Given the description of an element on the screen output the (x, y) to click on. 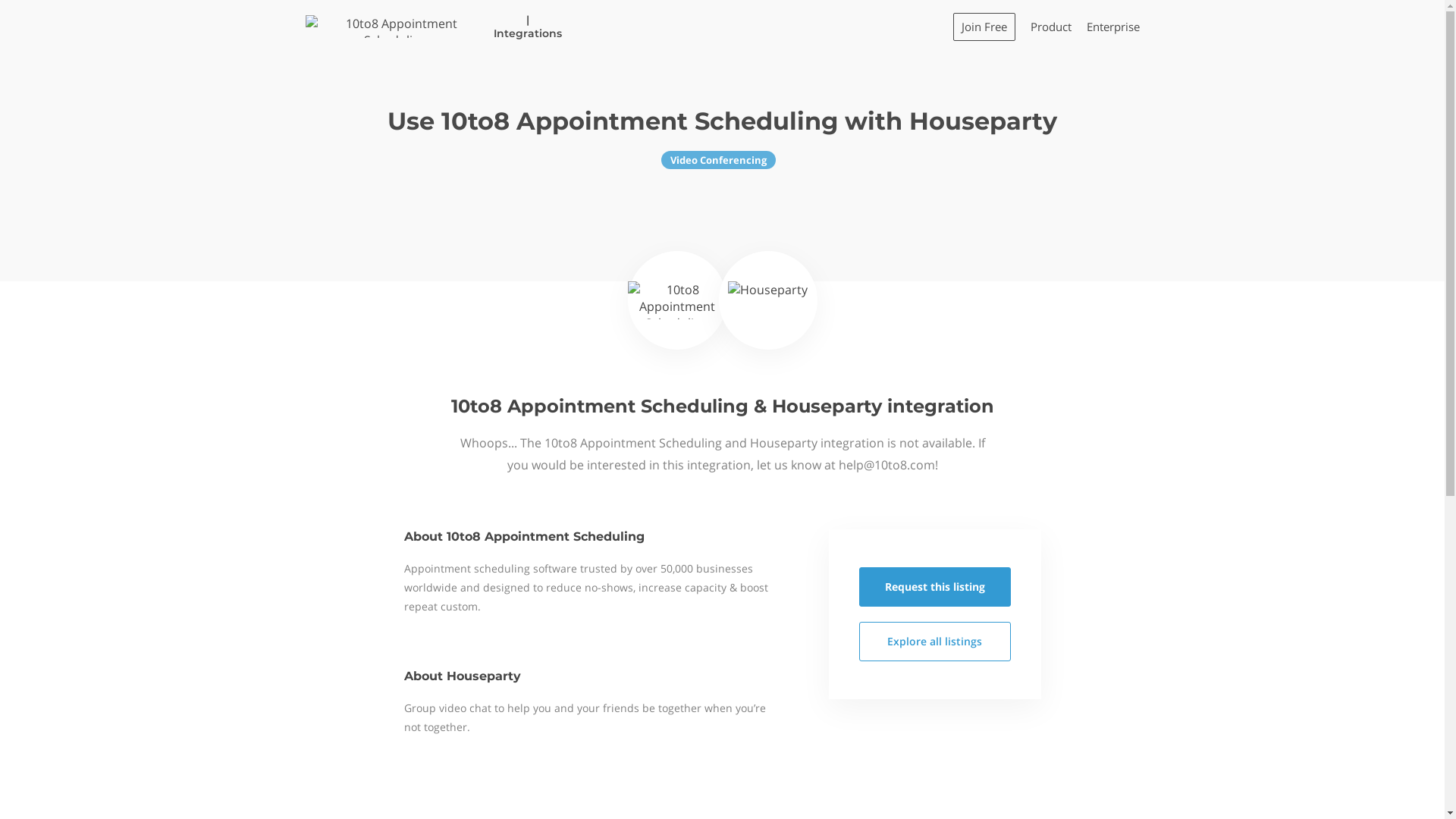
Request this listing Element type: text (934, 586)
Enterprise Element type: text (1112, 26)
| Integrations Element type: text (433, 26)
Houseparty Element type: hover (767, 300)
10to8 Appointment Scheduling Element type: hover (676, 300)
Product Element type: text (1049, 26)
10to8 Appointment Scheduling Element type: hover (394, 26)
Join Free Element type: text (983, 26)
Explore all listings Element type: text (934, 641)
